Given the description of an element on the screen output the (x, y) to click on. 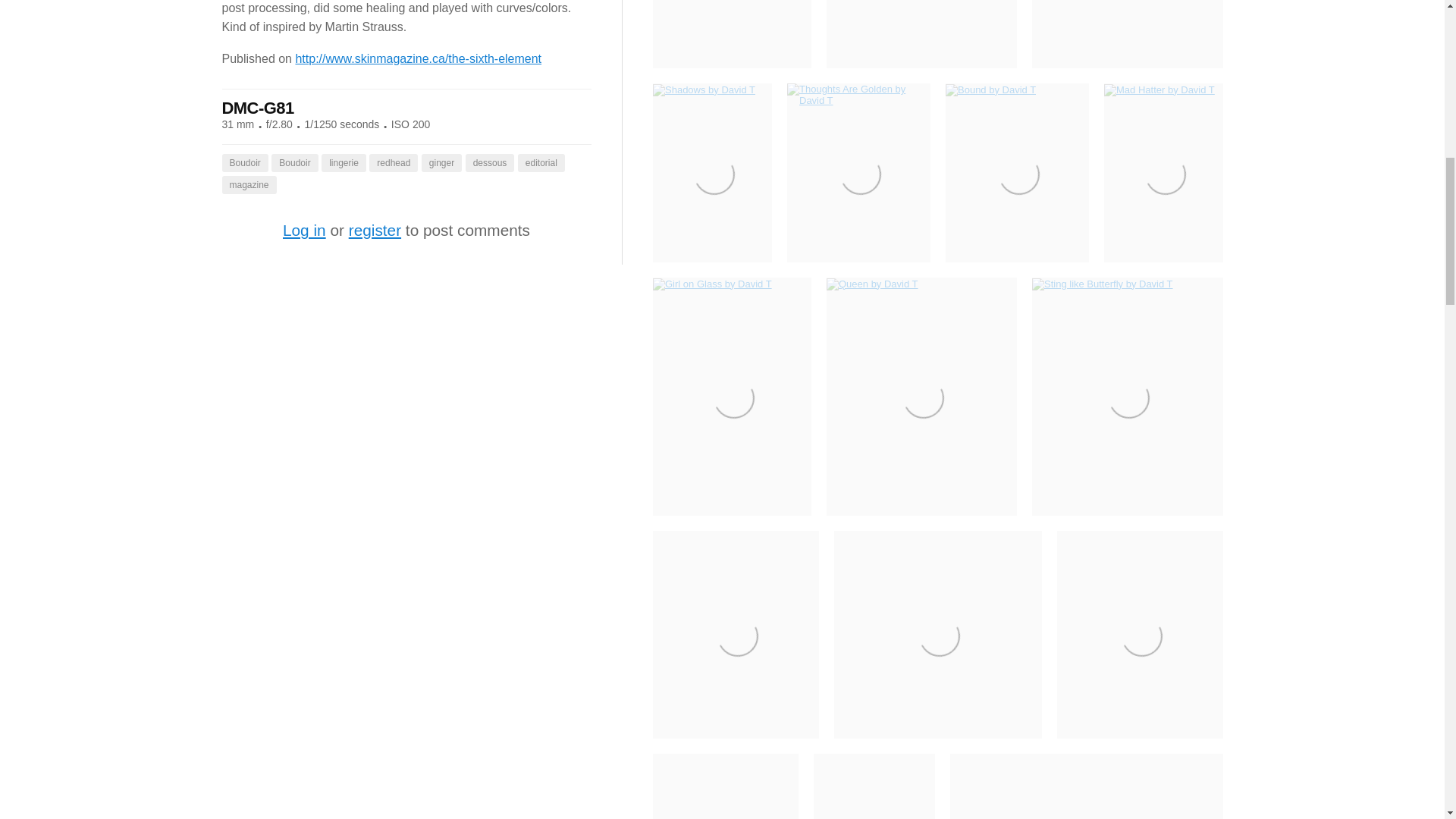
Boudoir (244, 162)
